Given the description of an element on the screen output the (x, y) to click on. 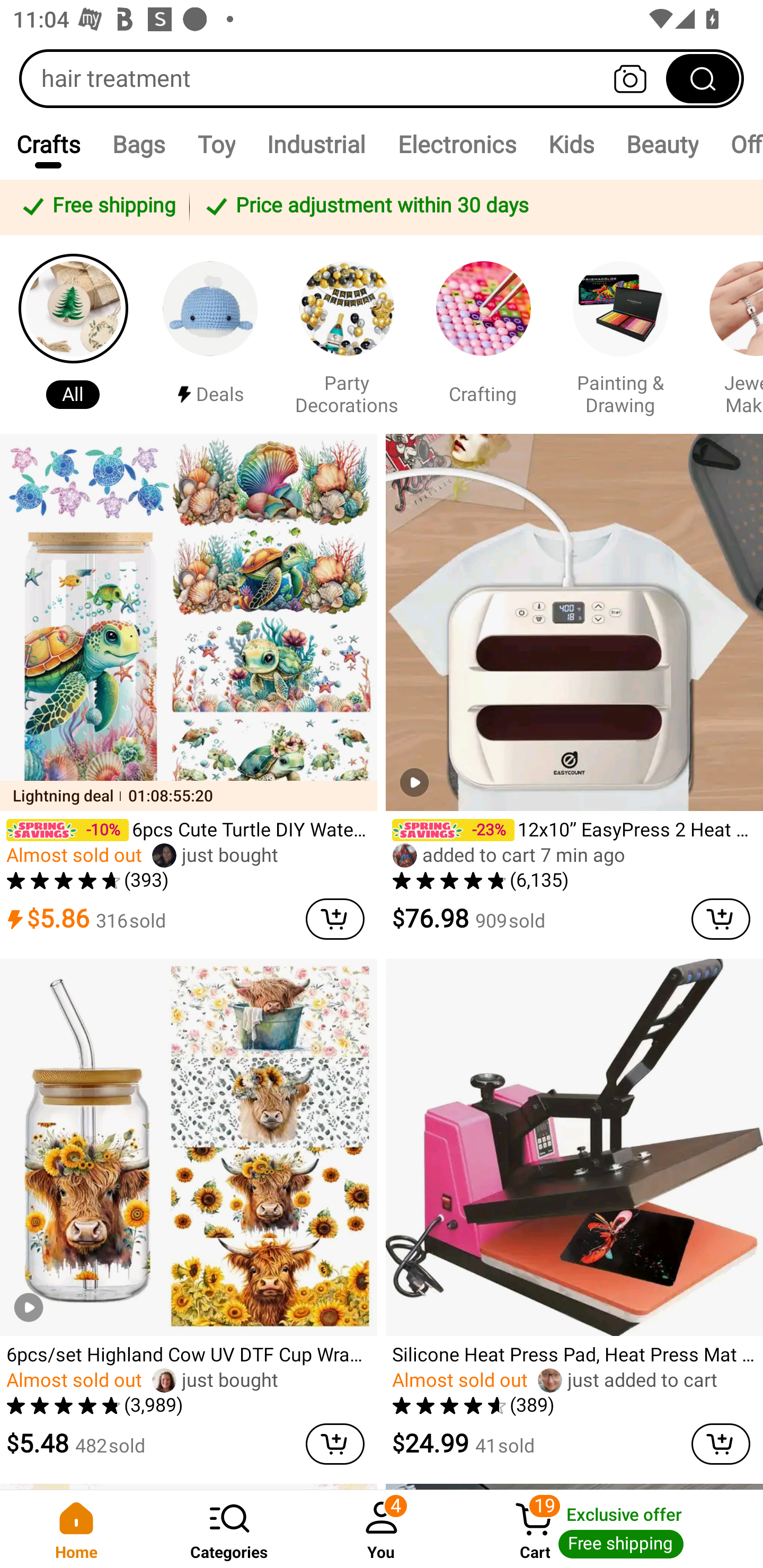
hair treatment (381, 78)
Crafts (48, 144)
Bags (138, 144)
Toy (216, 144)
Industrial (316, 144)
Electronics (456, 144)
Kids (570, 144)
Beauty (661, 144)
Free shipping (97, 206)
Price adjustment within 30 days (472, 206)
All (72, 333)
￼￼Deals (209, 333)
Party Decorations (346, 333)
Crafting (482, 333)
Painting & Drawing (619, 333)
Jewelry Making (729, 333)
cart delete (334, 918)
cart delete (720, 918)
cart delete (334, 1443)
cart delete (720, 1443)
Home (76, 1528)
Categories (228, 1528)
You 4 You (381, 1528)
Cart 19 Cart Exclusive offer (610, 1528)
